Given the description of an element on the screen output the (x, y) to click on. 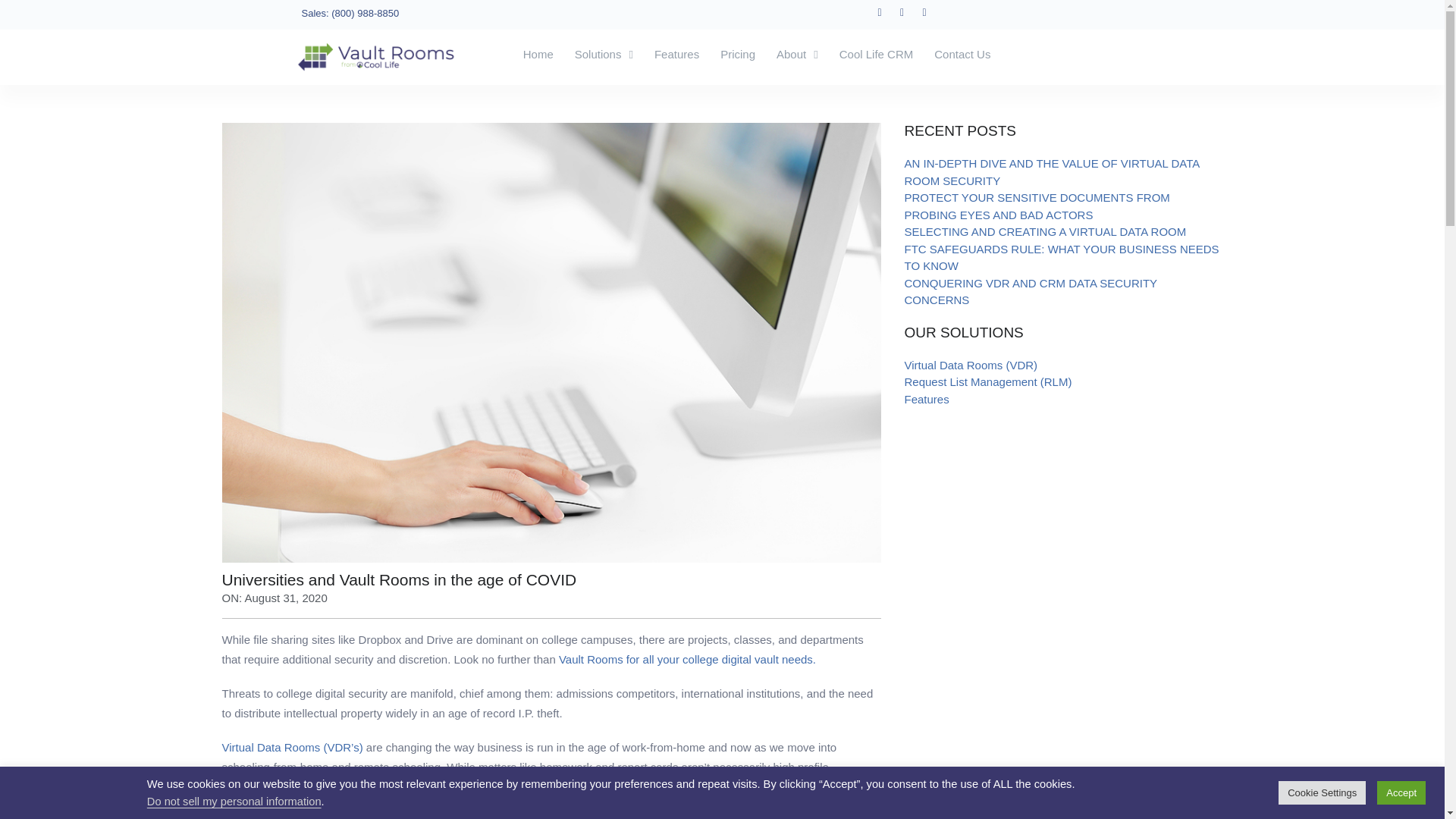
Home (538, 54)
Pricing (737, 54)
Cool Life CRM (876, 54)
Features (676, 54)
About (796, 54)
Contact Us (962, 54)
Solutions (603, 54)
